Given the description of an element on the screen output the (x, y) to click on. 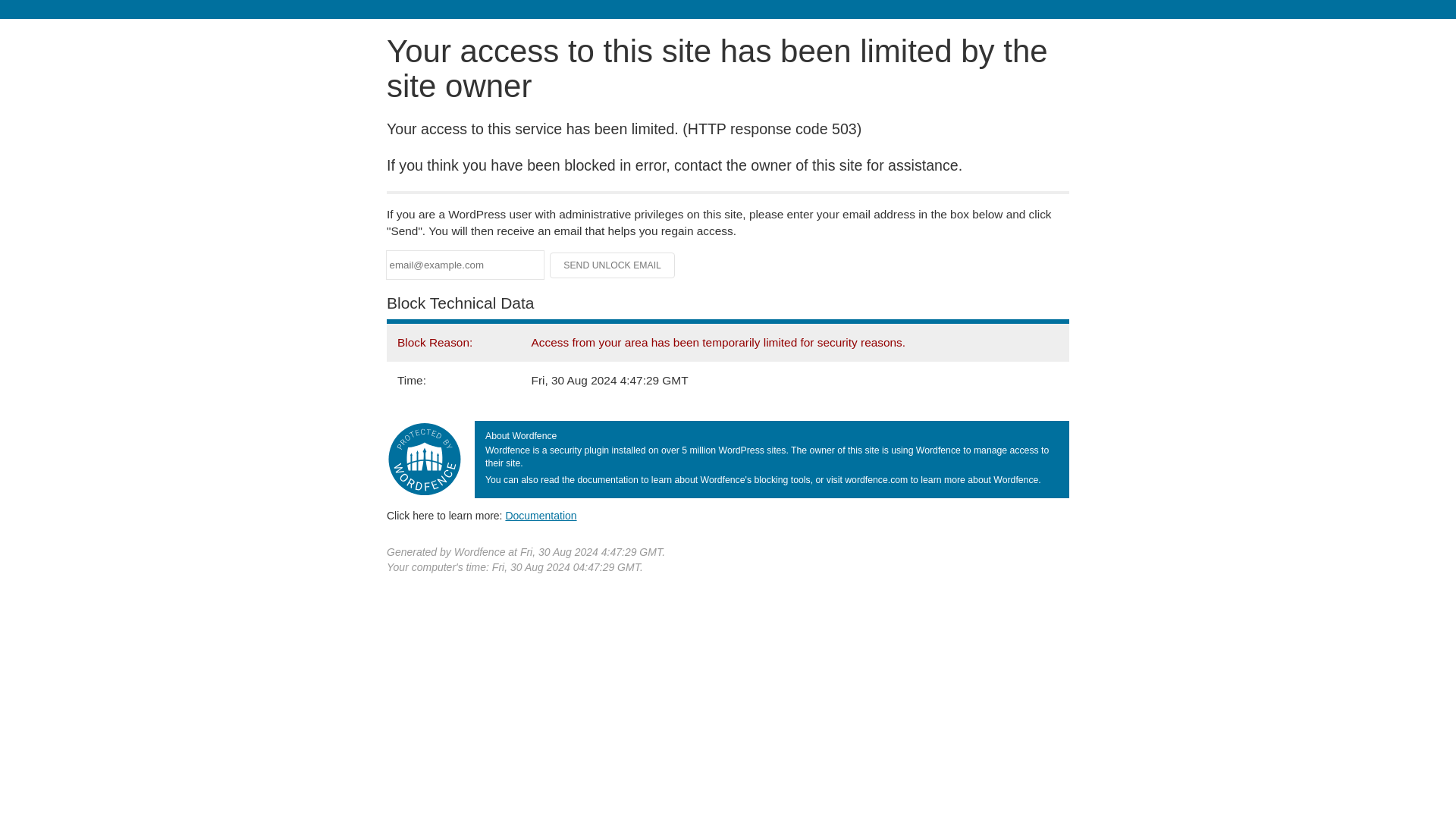
Send Unlock Email (612, 265)
Send Unlock Email (612, 265)
Documentation (540, 515)
